Given the description of an element on the screen output the (x, y) to click on. 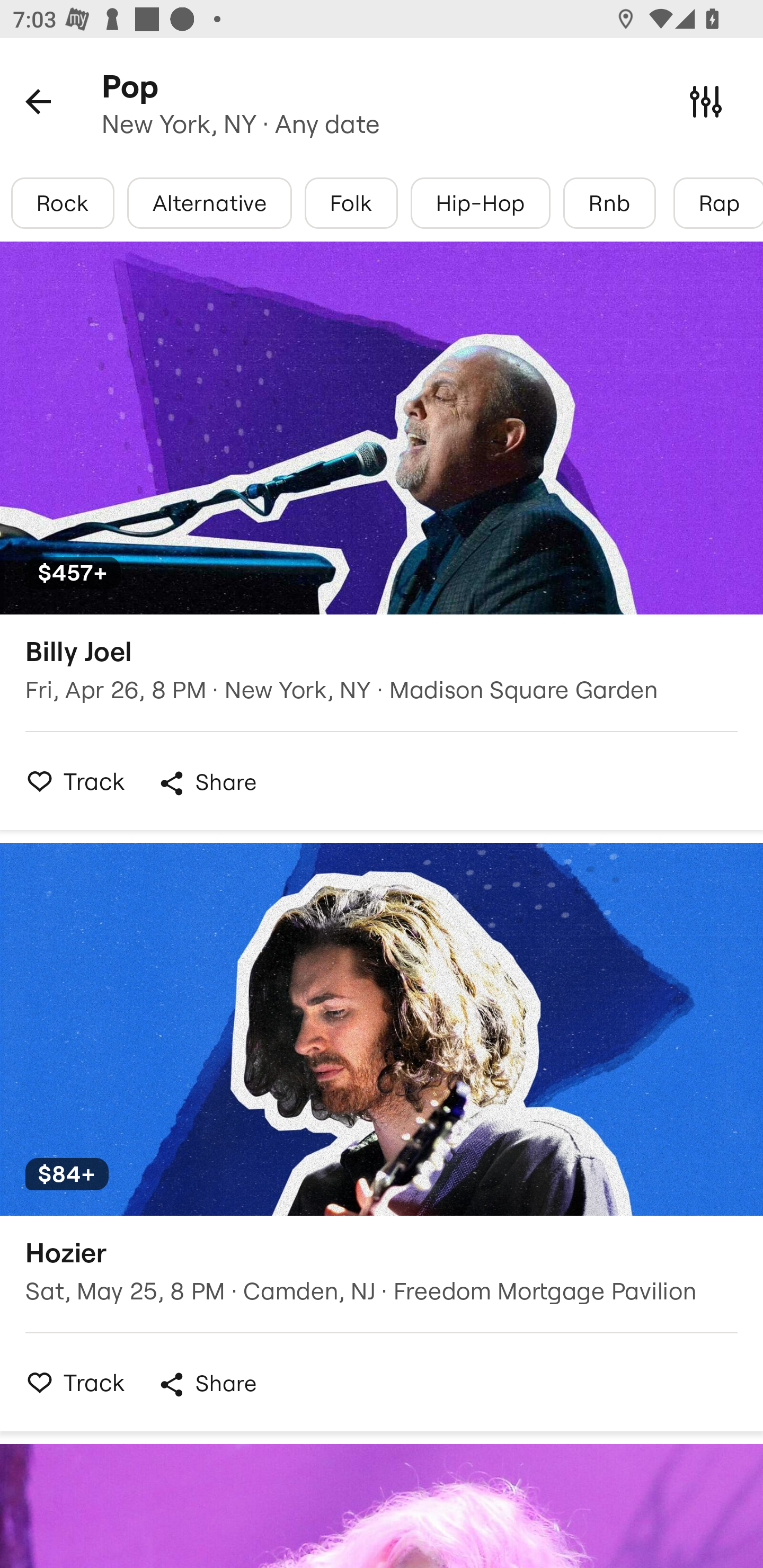
Back (38, 100)
Filters (705, 100)
Rock (62, 202)
Alternative (209, 202)
Folk (351, 202)
Hip-Hop (480, 202)
Rnb (609, 202)
Rap (718, 202)
Track (70, 780)
Share (207, 783)
Track (70, 1381)
Share (207, 1384)
